Given the description of an element on the screen output the (x, y) to click on. 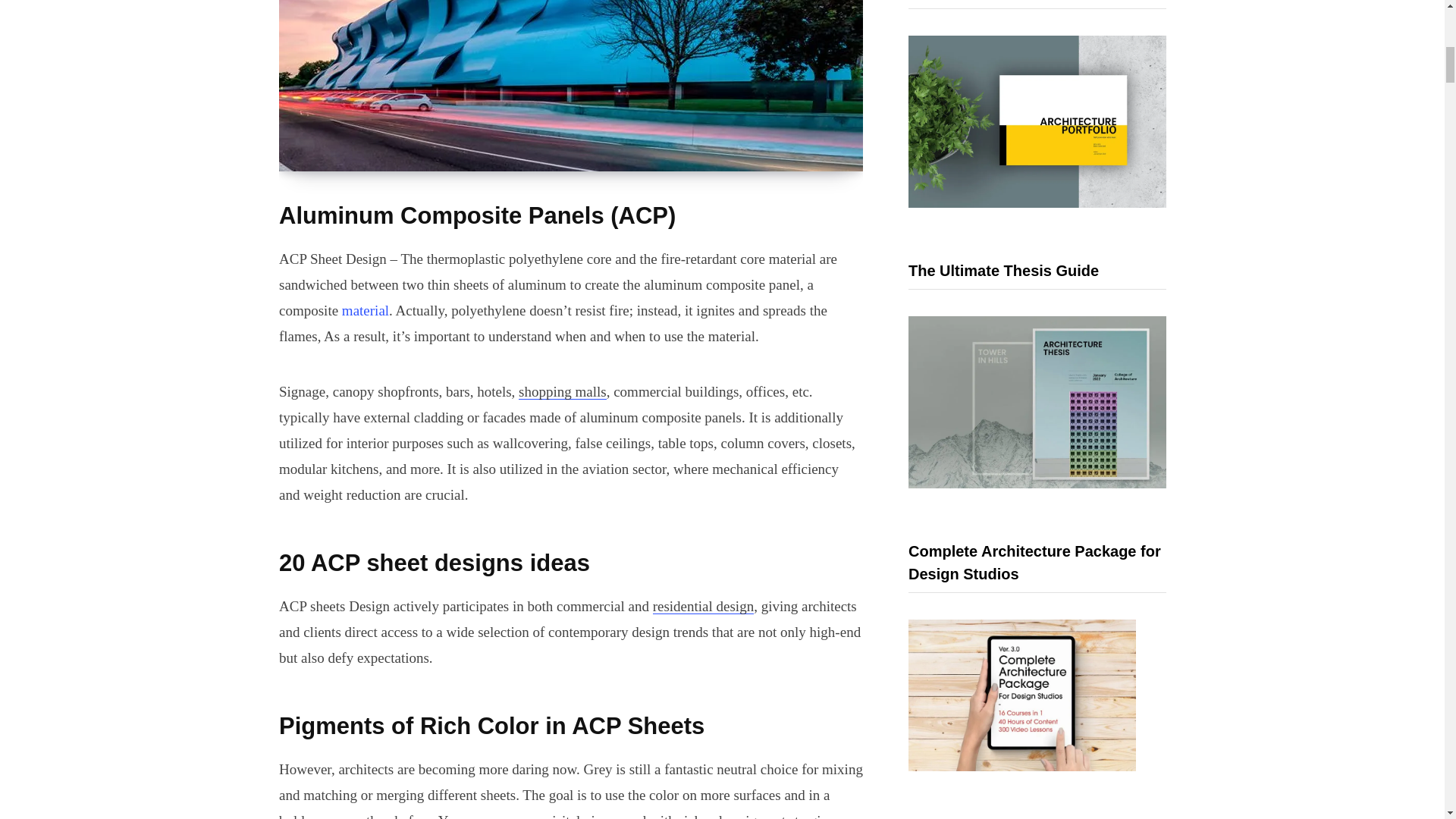
20 ACP Sheet Design Ideas (571, 85)
